Given the description of an element on the screen output the (x, y) to click on. 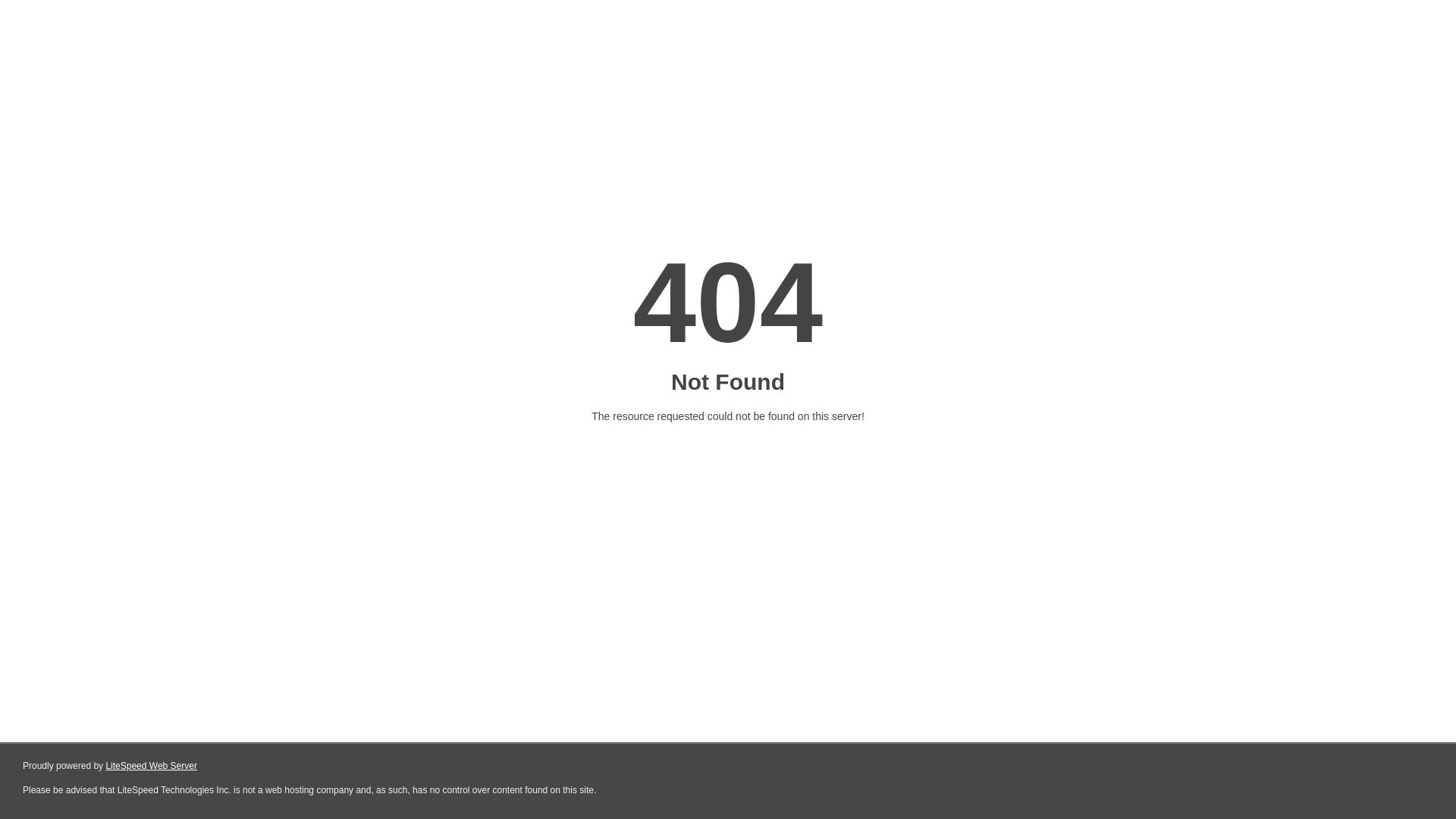
LiteSpeed Web Server Element type: text (151, 765)
